Given the description of an element on the screen output the (x, y) to click on. 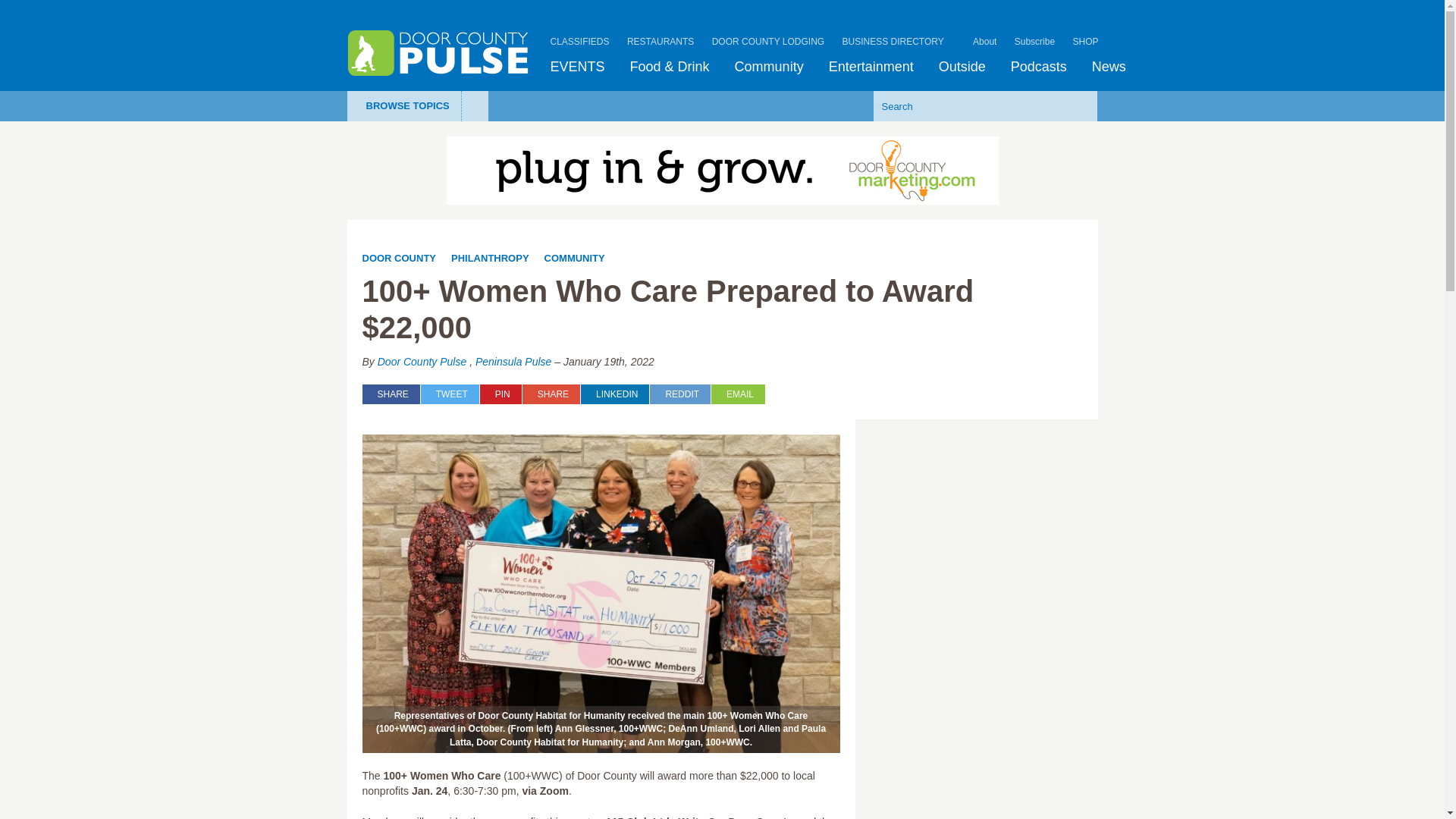
Search for: (962, 105)
Entertainment (871, 66)
Posts by Door County Pulse (422, 361)
Door County Pulse (437, 53)
Community (768, 66)
EVENTS (577, 66)
Outside (961, 66)
